Given the description of an element on the screen output the (x, y) to click on. 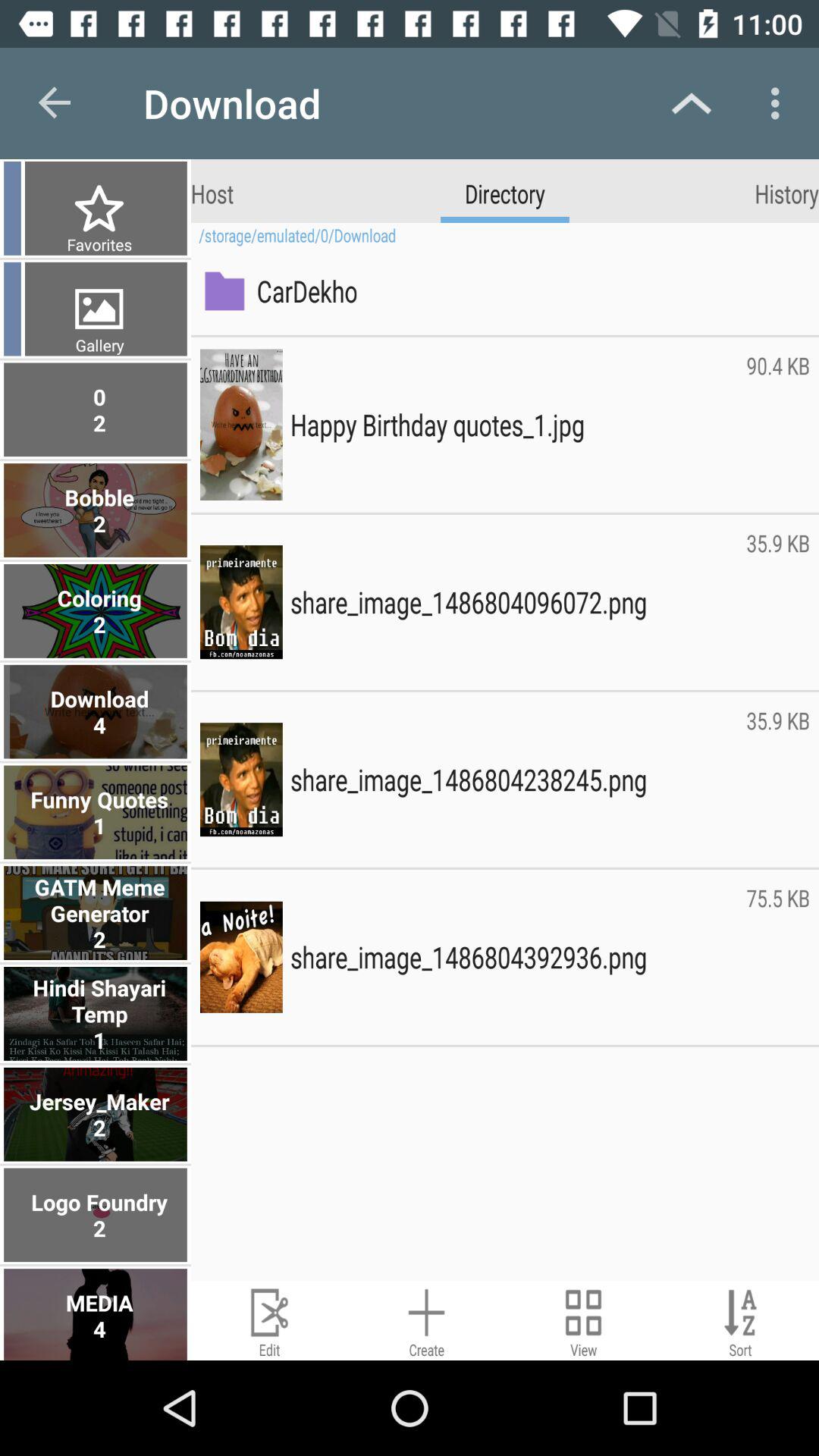
press the cardekho item (529, 290)
